Given the description of an element on the screen output the (x, y) to click on. 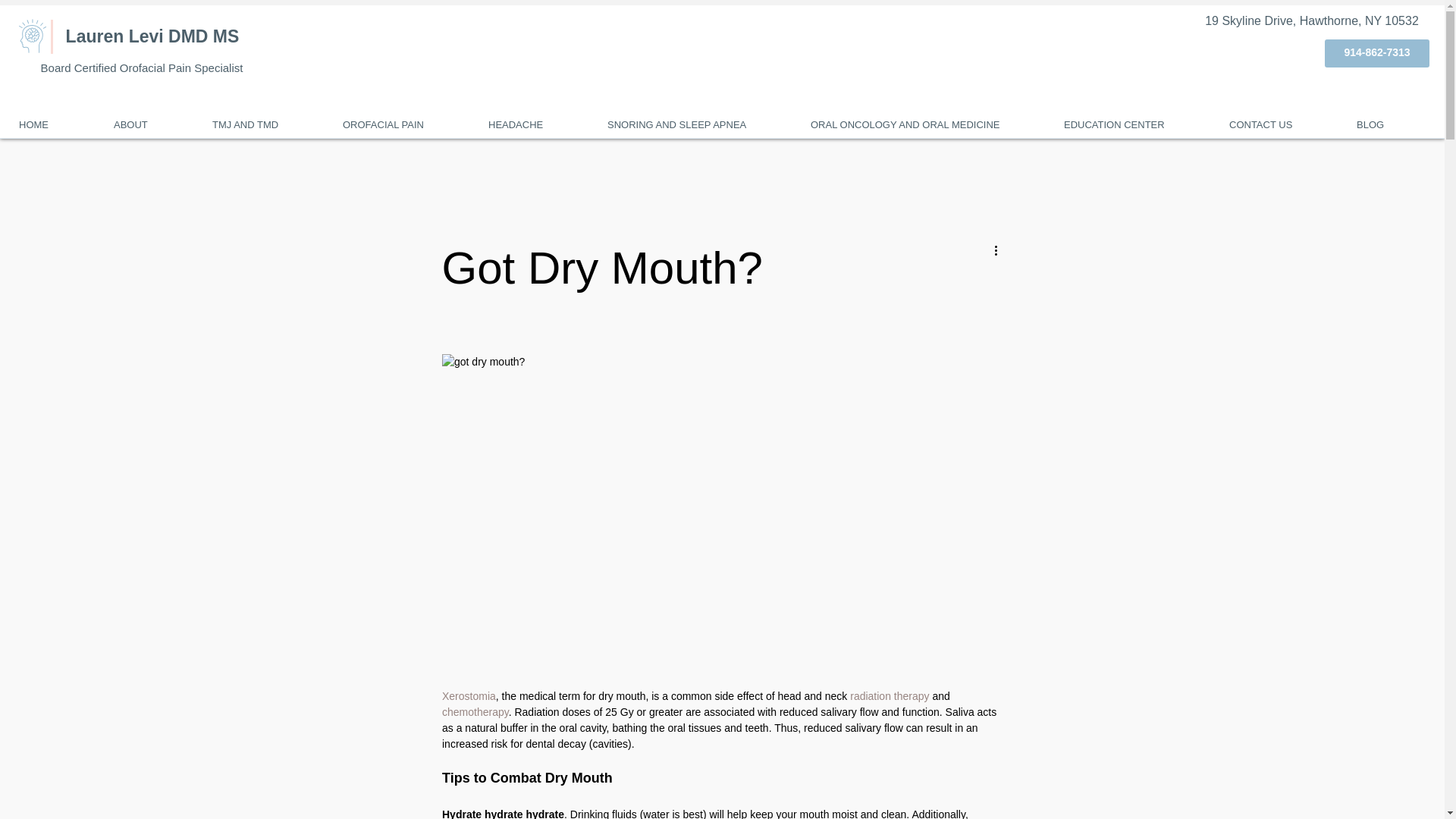
CONTACT US (1281, 124)
Lauren Levi DMD MS (152, 35)
HOME (54, 124)
914-862-7313 (1376, 53)
TMJ AND TMD (265, 124)
